Given the description of an element on the screen output the (x, y) to click on. 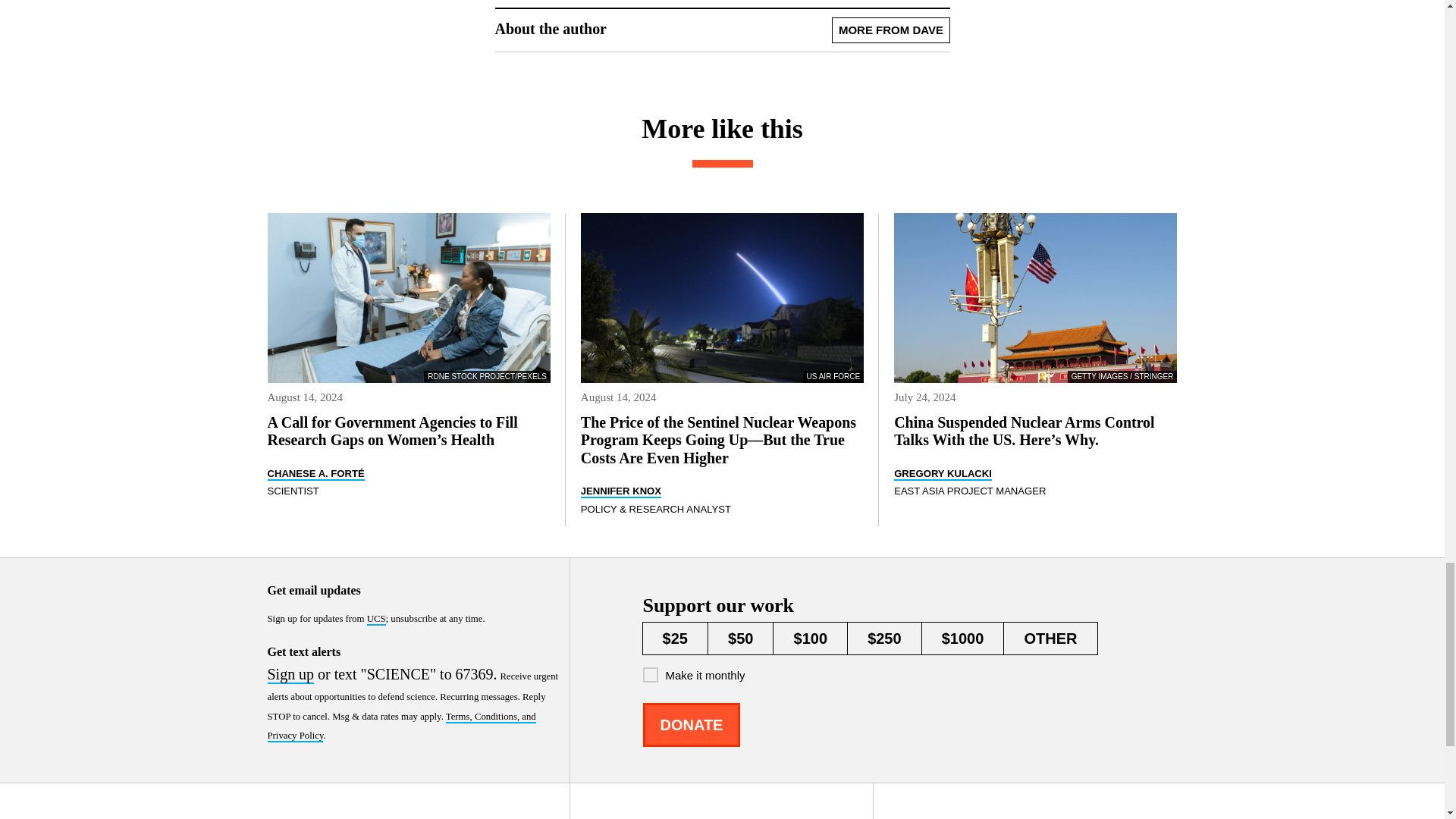
MORE FROM DAVE (890, 30)
Terms, Conditions, and Privacy Policy (400, 726)
UCS (375, 619)
JENNIFER KNOX (620, 491)
Sign up (290, 674)
Donate Online (692, 724)
GREGORY KULACKI (942, 473)
US AIR FORCE (721, 297)
